Given the description of an element on the screen output the (x, y) to click on. 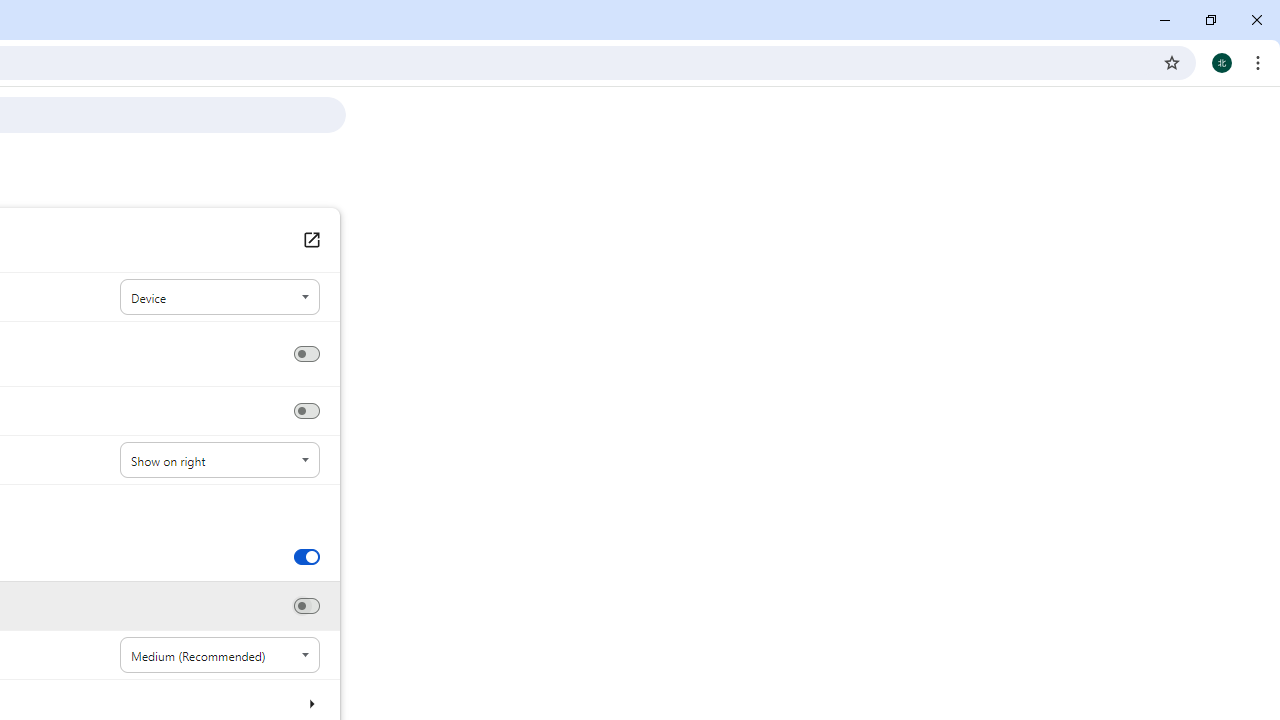
Font size (219, 655)
Mode (219, 297)
Side panel position (219, 460)
Show bookmarks bar (306, 411)
Theme Open Chrome Web Store (310, 240)
Show tab preview images (306, 556)
Show tab memory usage (306, 606)
Show home button (306, 354)
Customize fonts (310, 703)
